Given the description of an element on the screen output the (x, y) to click on. 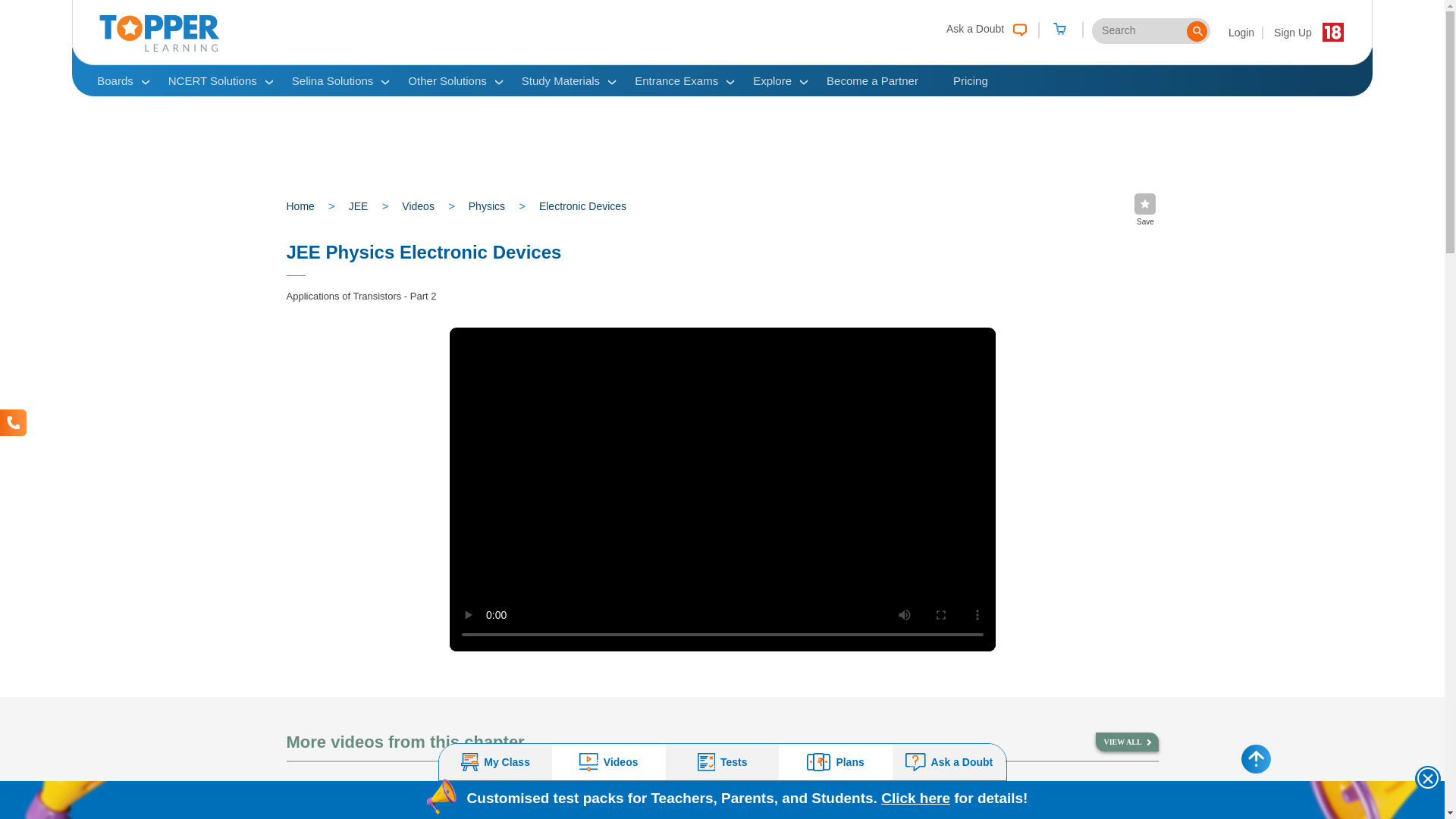
Login (1242, 32)
Cart (1059, 30)
TopperLearning (159, 47)
Sign Up (1292, 32)
Boards (114, 80)
Back to top (1256, 758)
Get in Touch (13, 422)
Ask a Doubt (983, 28)
